Given the description of an element on the screen output the (x, y) to click on. 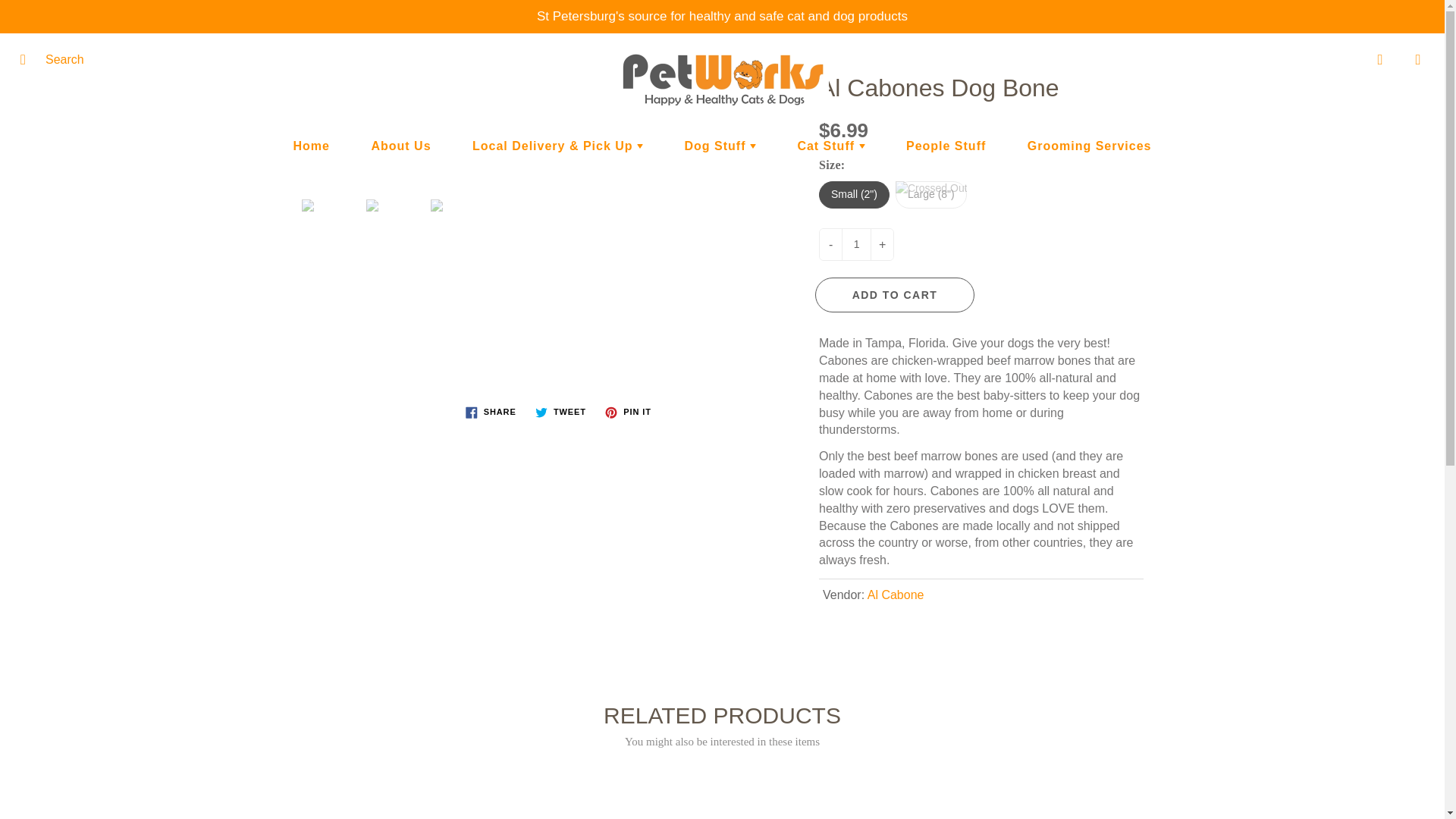
People Stuff (945, 146)
Pin on Pinterest (627, 412)
Search (28, 59)
You have 0 items in your cart (1417, 59)
Al Cabones Dog Bone (462, 205)
Tweet on Twitter (560, 412)
My account (1379, 59)
1 (855, 244)
Share on Facebook (491, 412)
Cat Stuff (830, 146)
